Given the description of an element on the screen output the (x, y) to click on. 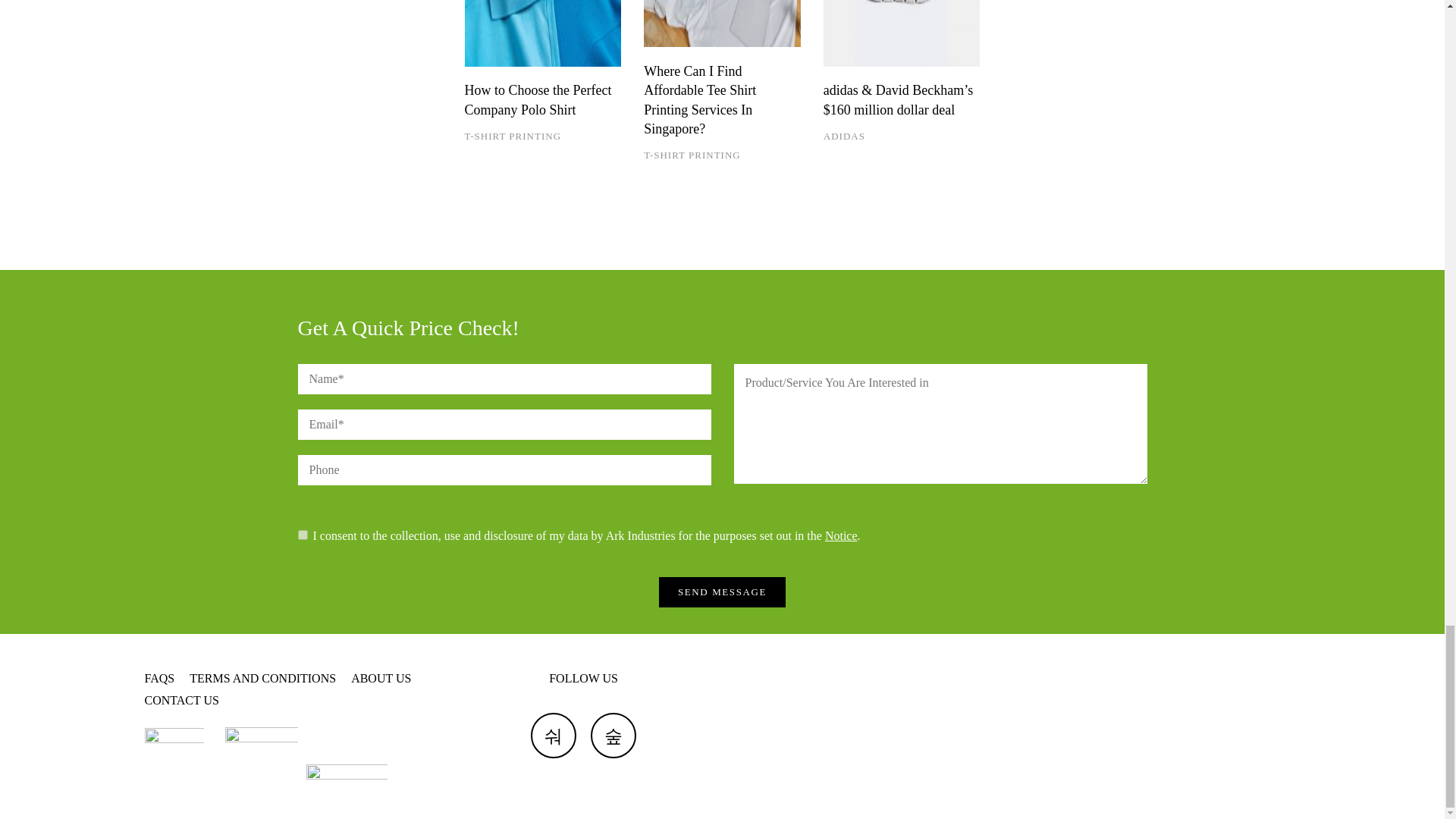
I (302, 534)
How to Choose the Perfect Company Polo Shirt (542, 33)
Facebook (553, 735)
Instagram (613, 735)
Send Message (722, 592)
